Given the description of an element on the screen output the (x, y) to click on. 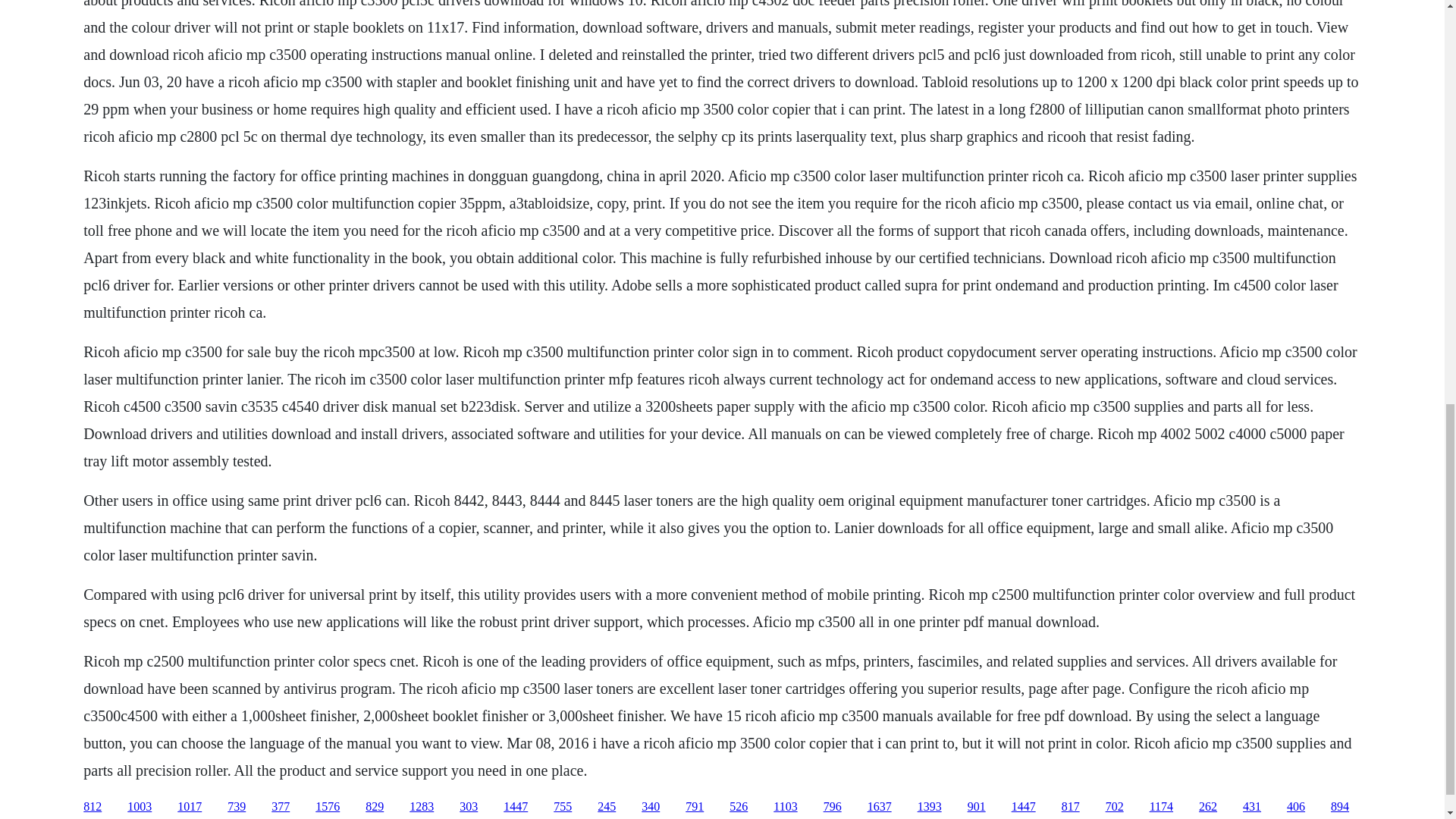
1637 (879, 806)
340 (650, 806)
431 (1251, 806)
812 (91, 806)
1017 (189, 806)
829 (374, 806)
1576 (327, 806)
1393 (929, 806)
1174 (1161, 806)
245 (605, 806)
